Given the description of an element on the screen output the (x, y) to click on. 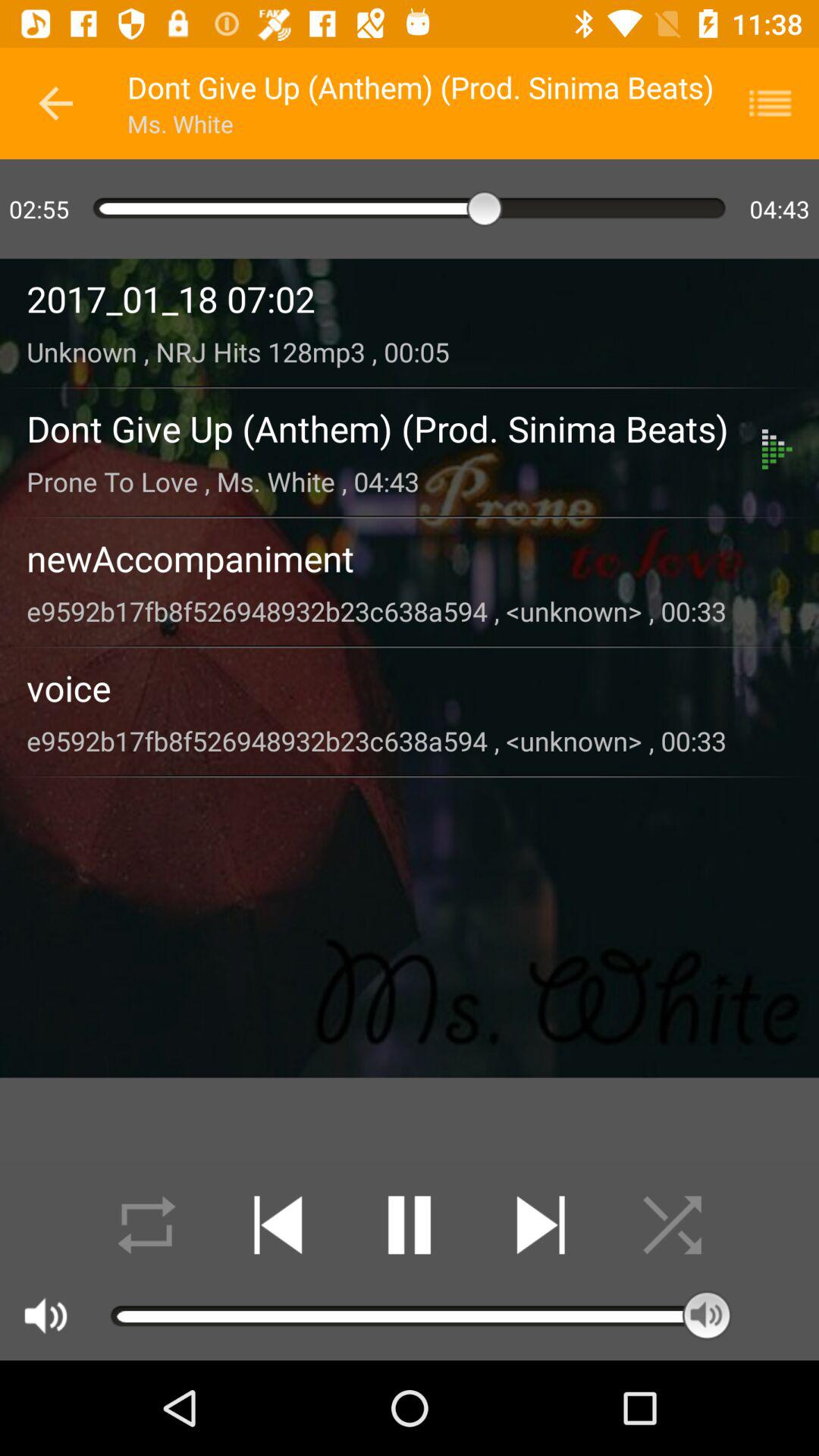
swipe to the voice icon (409, 687)
